Given the description of an element on the screen output the (x, y) to click on. 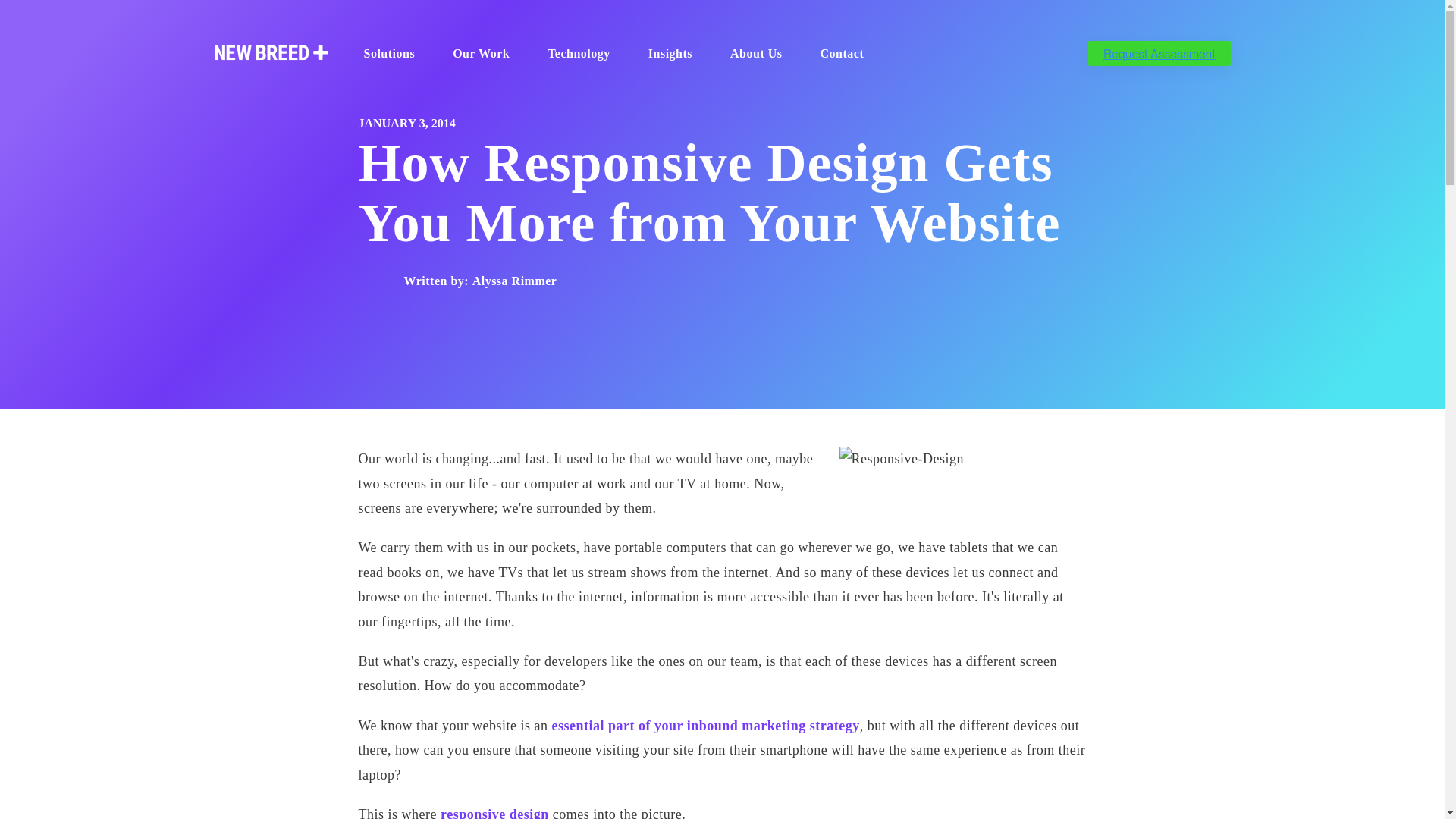
Technology (584, 54)
Contact (848, 54)
Our Work (485, 54)
Solutions (395, 54)
New Breed Revenue (270, 54)
Responsive-Design (962, 458)
Insights (675, 54)
New Breed Revenue (270, 52)
About Us (761, 54)
